Given the description of an element on the screen output the (x, y) to click on. 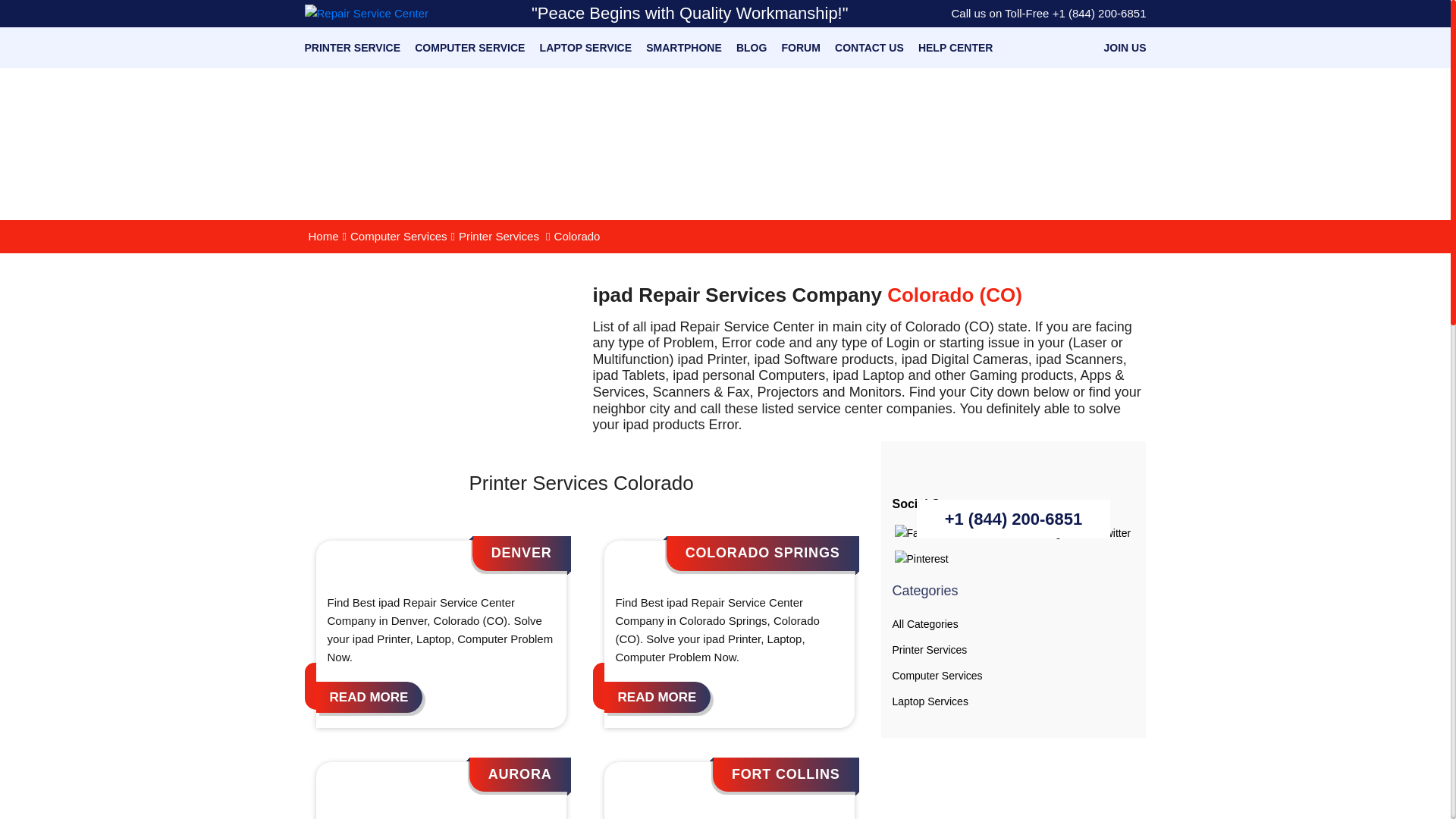
CONTACT US (869, 47)
READ MORE (657, 696)
Printer Service (352, 47)
DENVER (521, 552)
FORT COLLINS (786, 774)
Printer Services (498, 236)
HELP CENTER (955, 47)
Home (323, 236)
PRINTER SERVICE (352, 47)
JOIN US (1124, 47)
SMARTPHONE (684, 47)
COMPUTER SERVICE (469, 47)
Laptop Service (585, 47)
Colorado (577, 236)
Smartphone Service (684, 47)
